Given the description of an element on the screen output the (x, y) to click on. 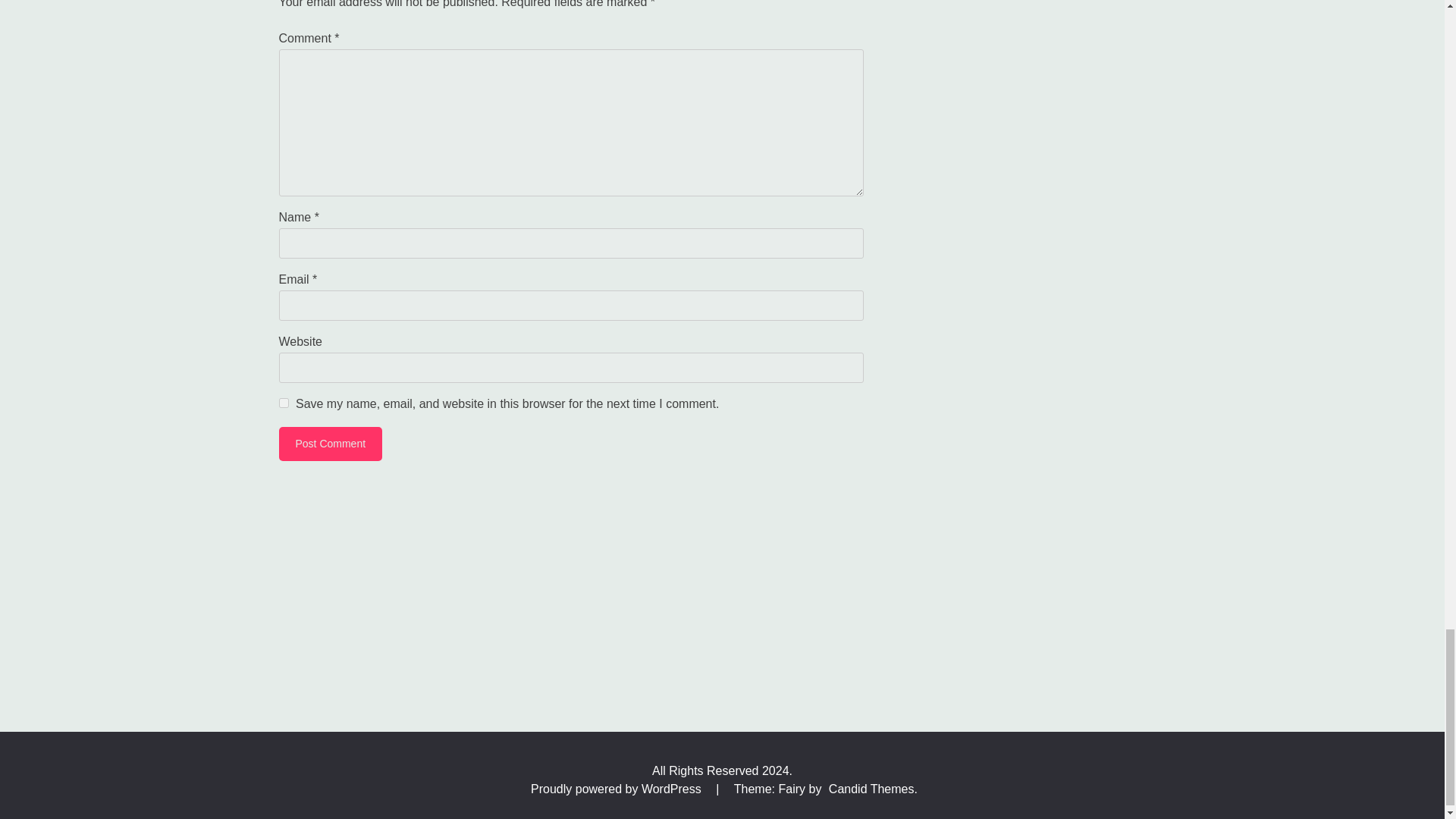
yes (283, 402)
Post Comment (330, 443)
Post Comment (330, 443)
